Given the description of an element on the screen output the (x, y) to click on. 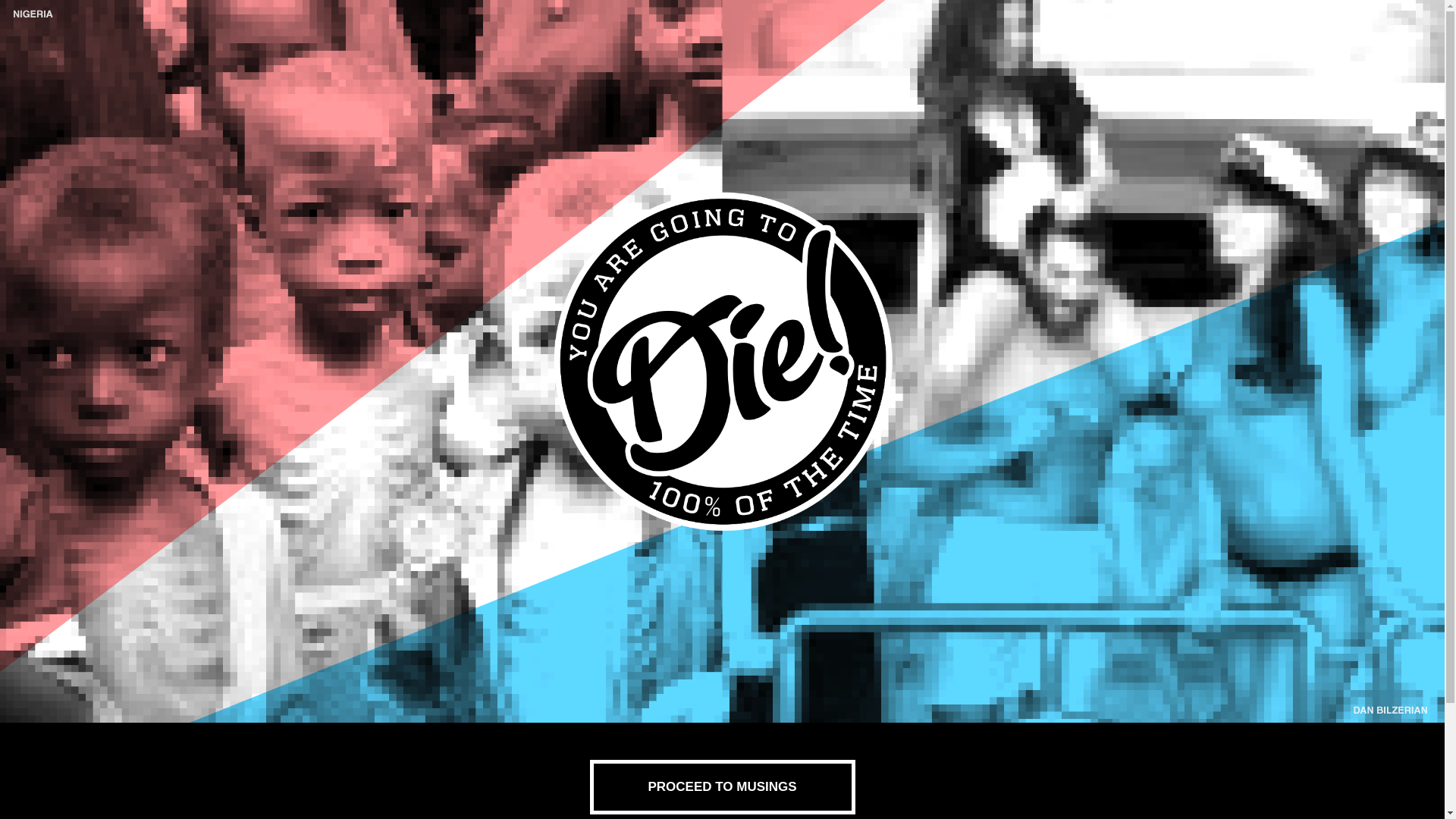
PROCEED TO MUSINGS Element type: text (721, 786)
